Given the description of an element on the screen output the (x, y) to click on. 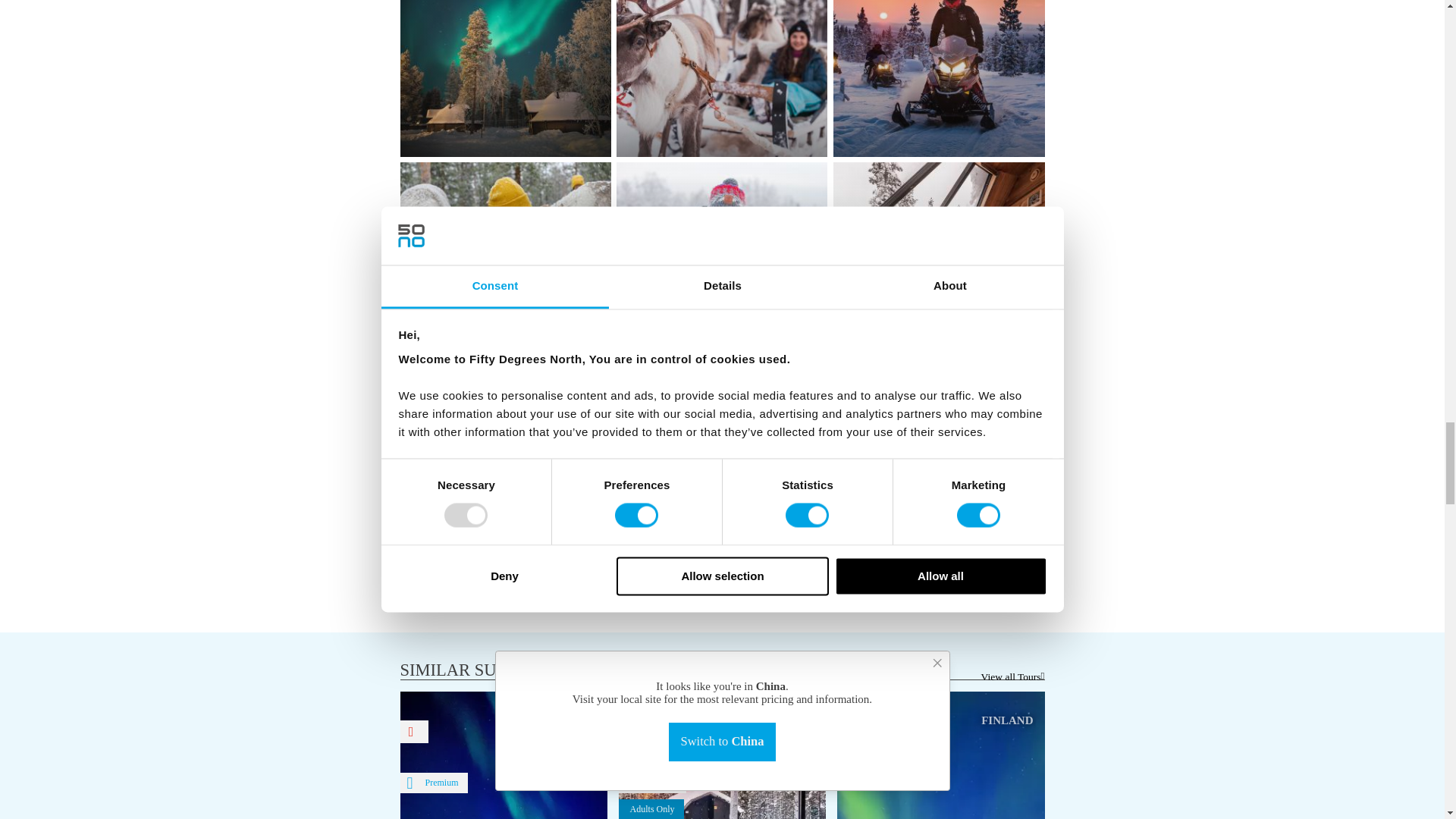
Save Tour (632, 731)
Save Tour (851, 731)
Save Tour (414, 731)
